Given the description of an element on the screen output the (x, y) to click on. 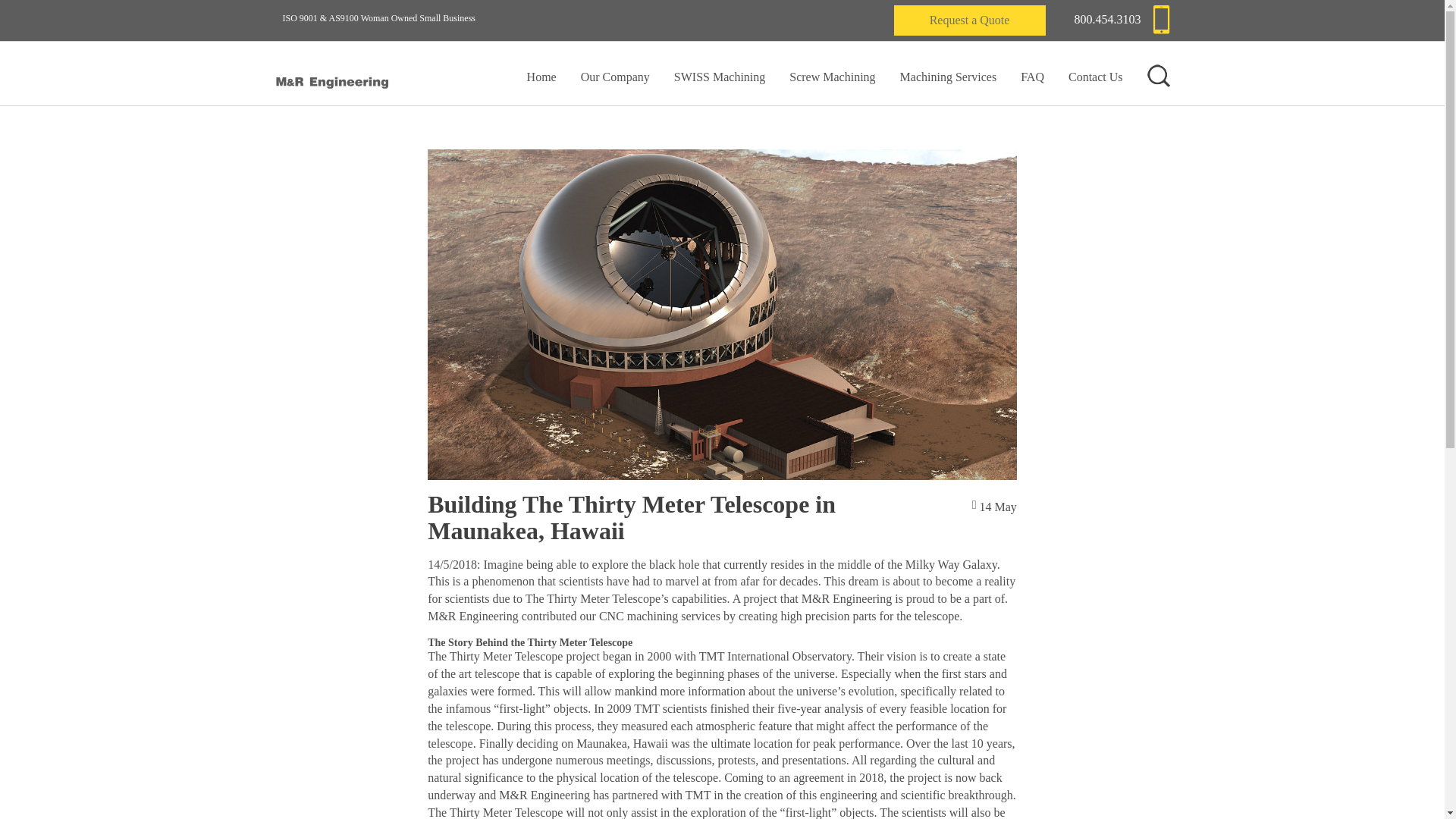
Our Company (614, 74)
Screw Machining (832, 74)
Request a Quote (969, 20)
Machining Services (948, 74)
FAQ (1031, 74)
SWISS Machining (719, 74)
Home (541, 74)
ISO 9001 (299, 18)
Contact Us (1095, 74)
